Given the description of an element on the screen output the (x, y) to click on. 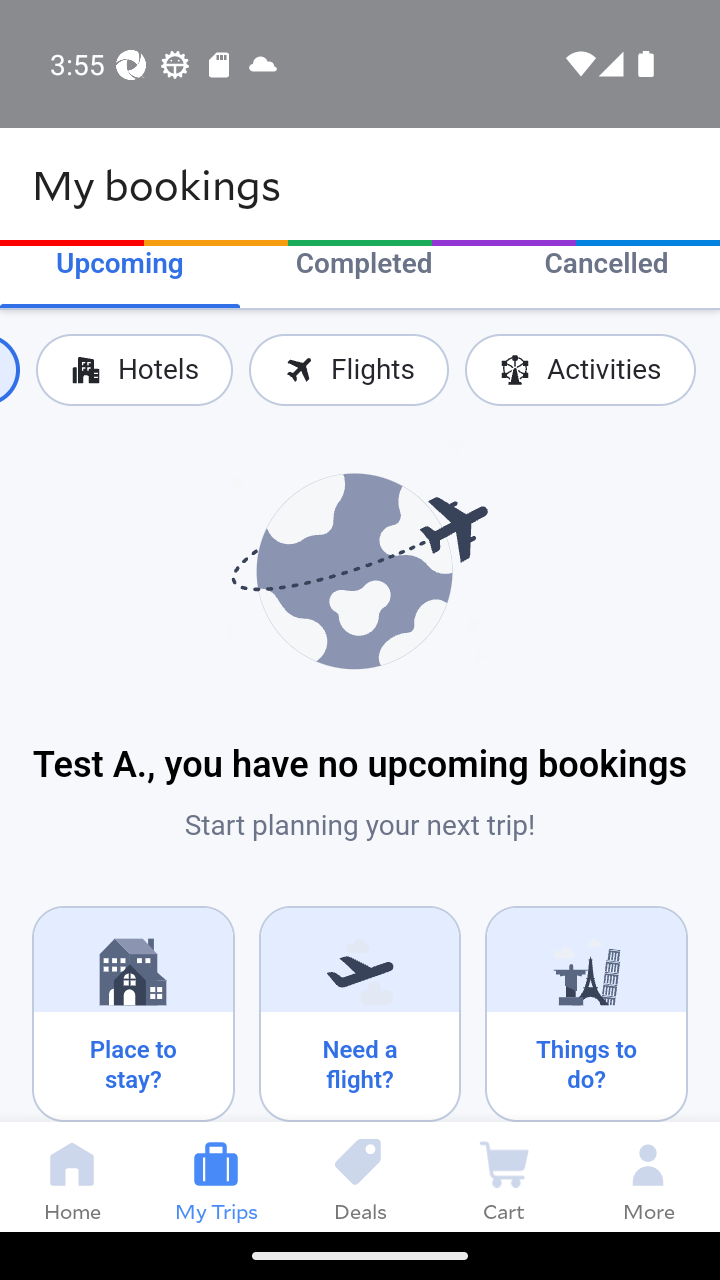
Upcoming (119, 266)
Completed (363, 266)
Cancelled (606, 266)
Hotels (133, 369)
Flights (348, 369)
Activities (579, 369)
Home (72, 1176)
My Trips (216, 1176)
Deals (360, 1176)
Cart (504, 1176)
More (648, 1176)
